Given the description of an element on the screen output the (x, y) to click on. 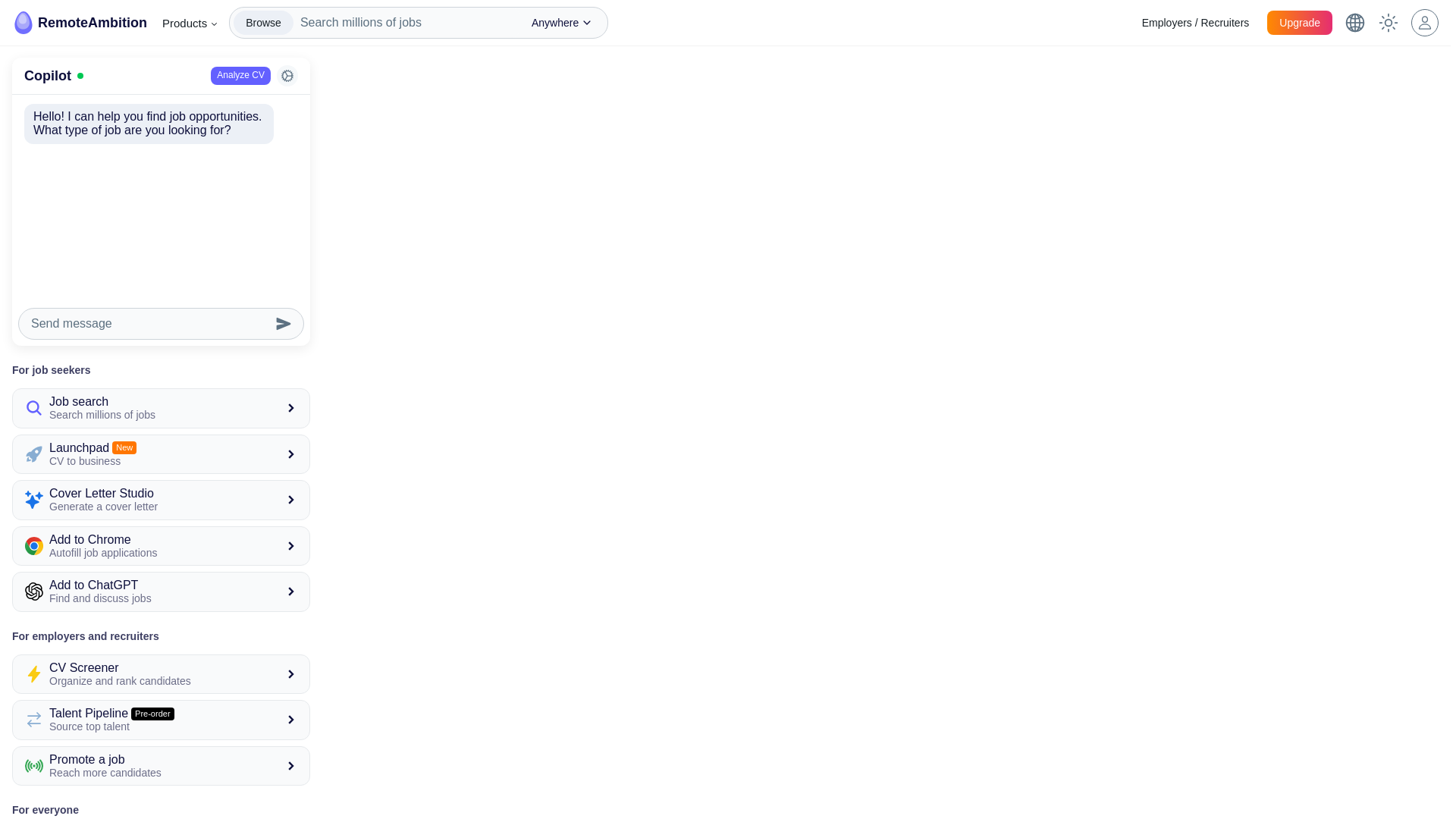
Upgrade (160, 719)
Browse (1299, 22)
Products (160, 673)
RemoteAmbition (160, 765)
